Given the description of an element on the screen output the (x, y) to click on. 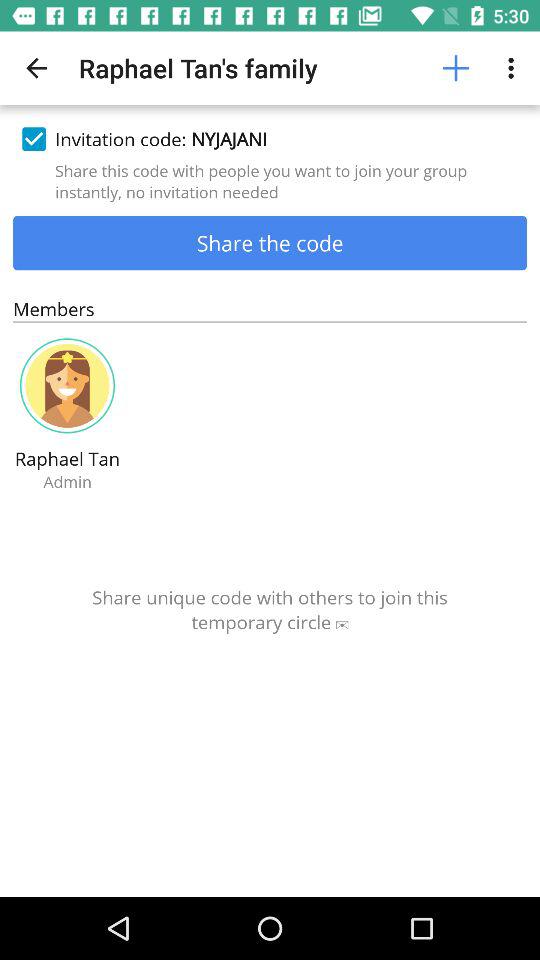
open app to the left of the raphael tan s icon (36, 68)
